Given the description of an element on the screen output the (x, y) to click on. 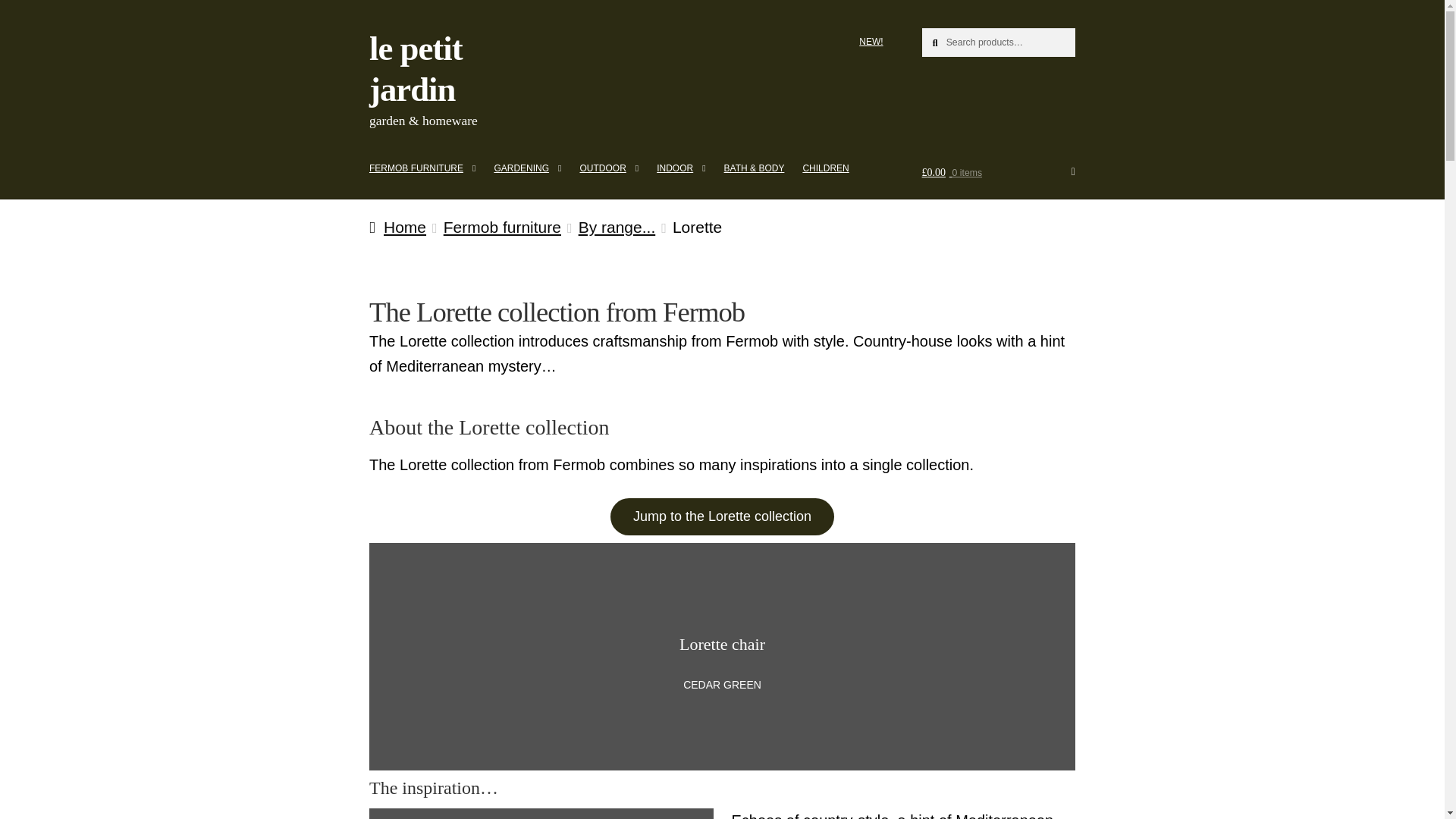
NEW! (871, 41)
View your shopping basket (998, 173)
FERMOB FURNITURE (421, 168)
le petit jardin (416, 68)
